Given the description of an element on the screen output the (x, y) to click on. 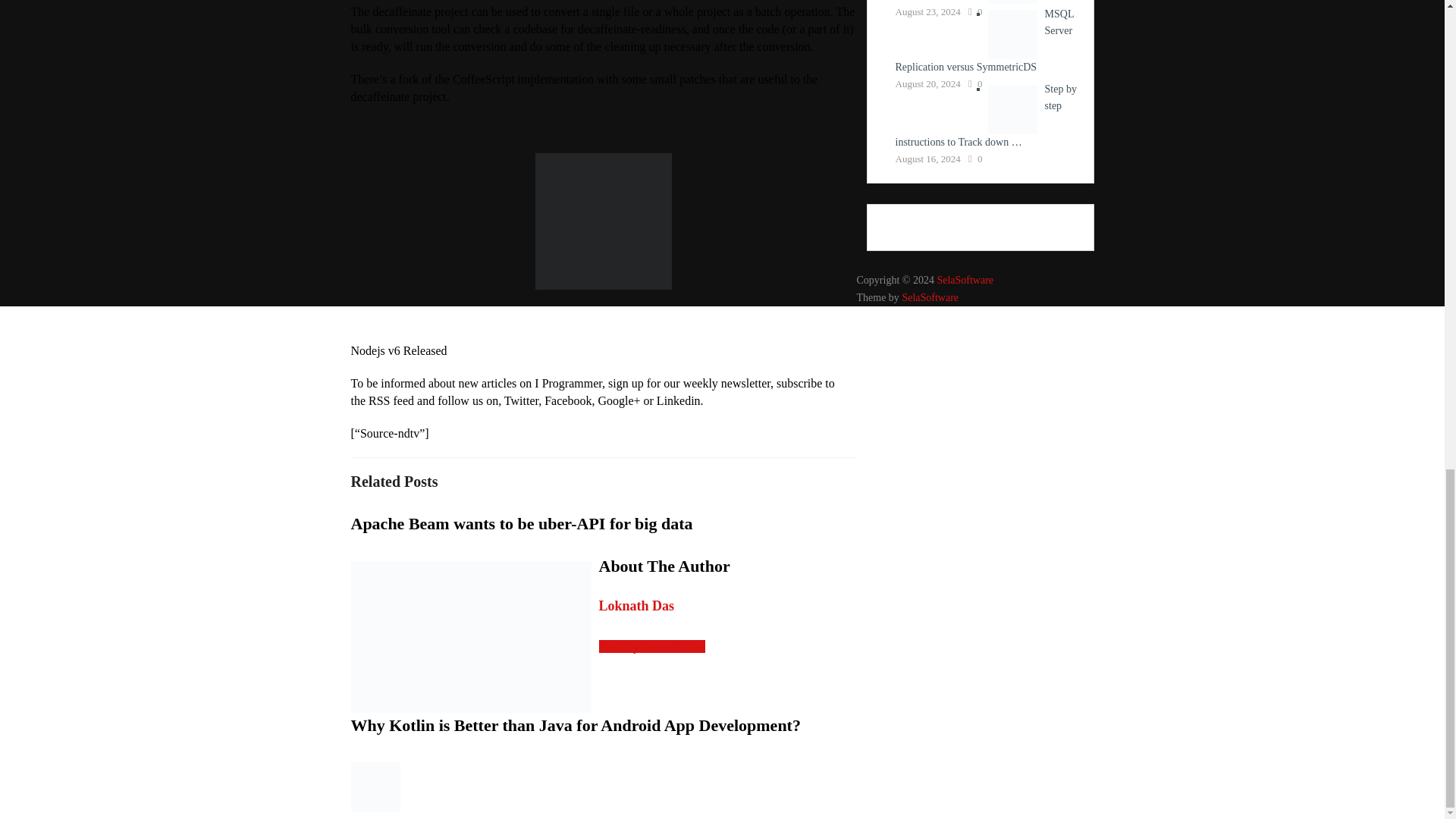
Why Kotlin is Better than Java for Android App Development? (574, 724)
Posts by Loknath Das (651, 645)
Loknath Das (636, 605)
Apache Beam wants to be uber-API for big data (521, 523)
Apache Beam wants to be uber-API for big data (521, 523)
Why Kotlin is Better than Java for Android App Development? (574, 724)
